Given the description of an element on the screen output the (x, y) to click on. 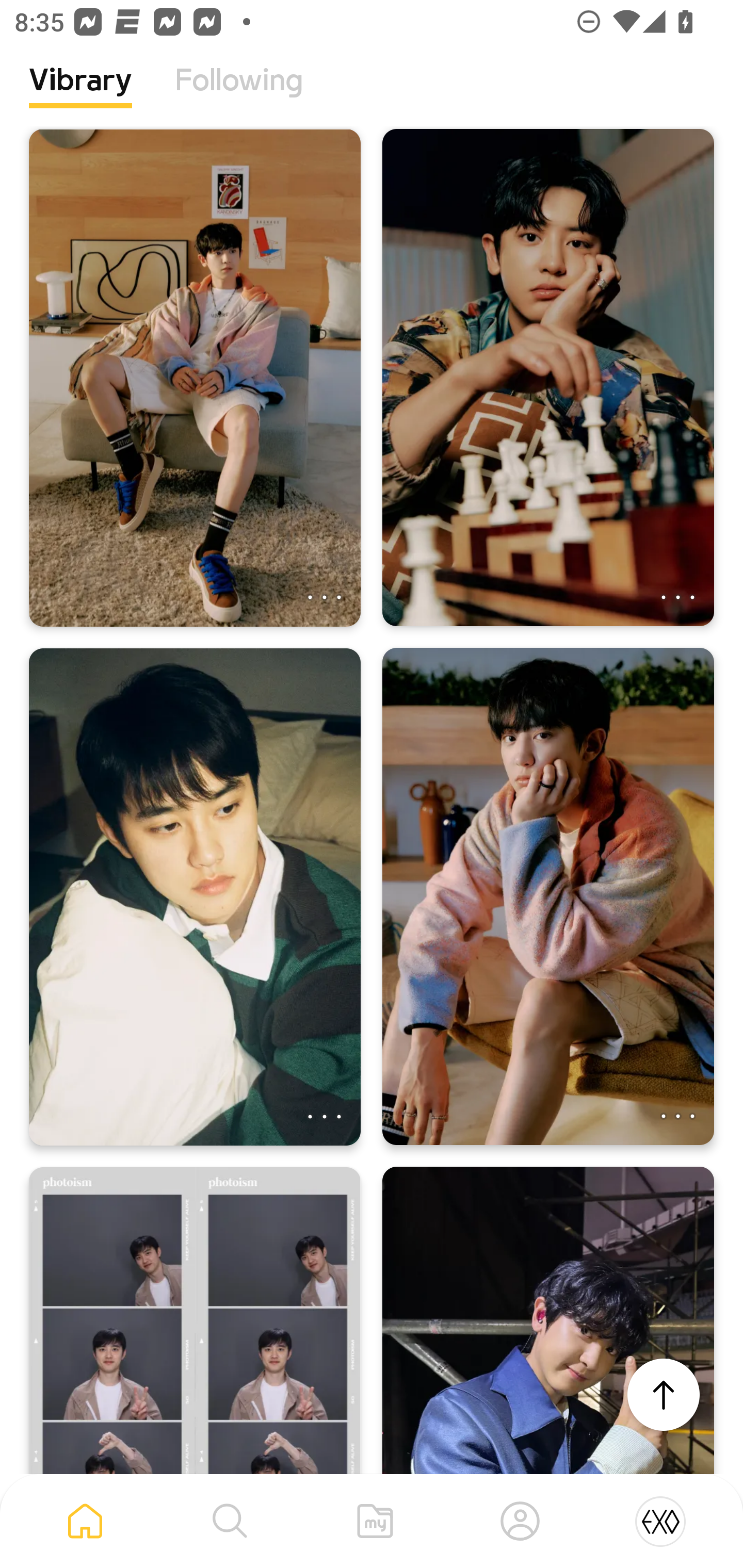
Vibrary (80, 95)
Following (239, 95)
